Given the description of an element on the screen output the (x, y) to click on. 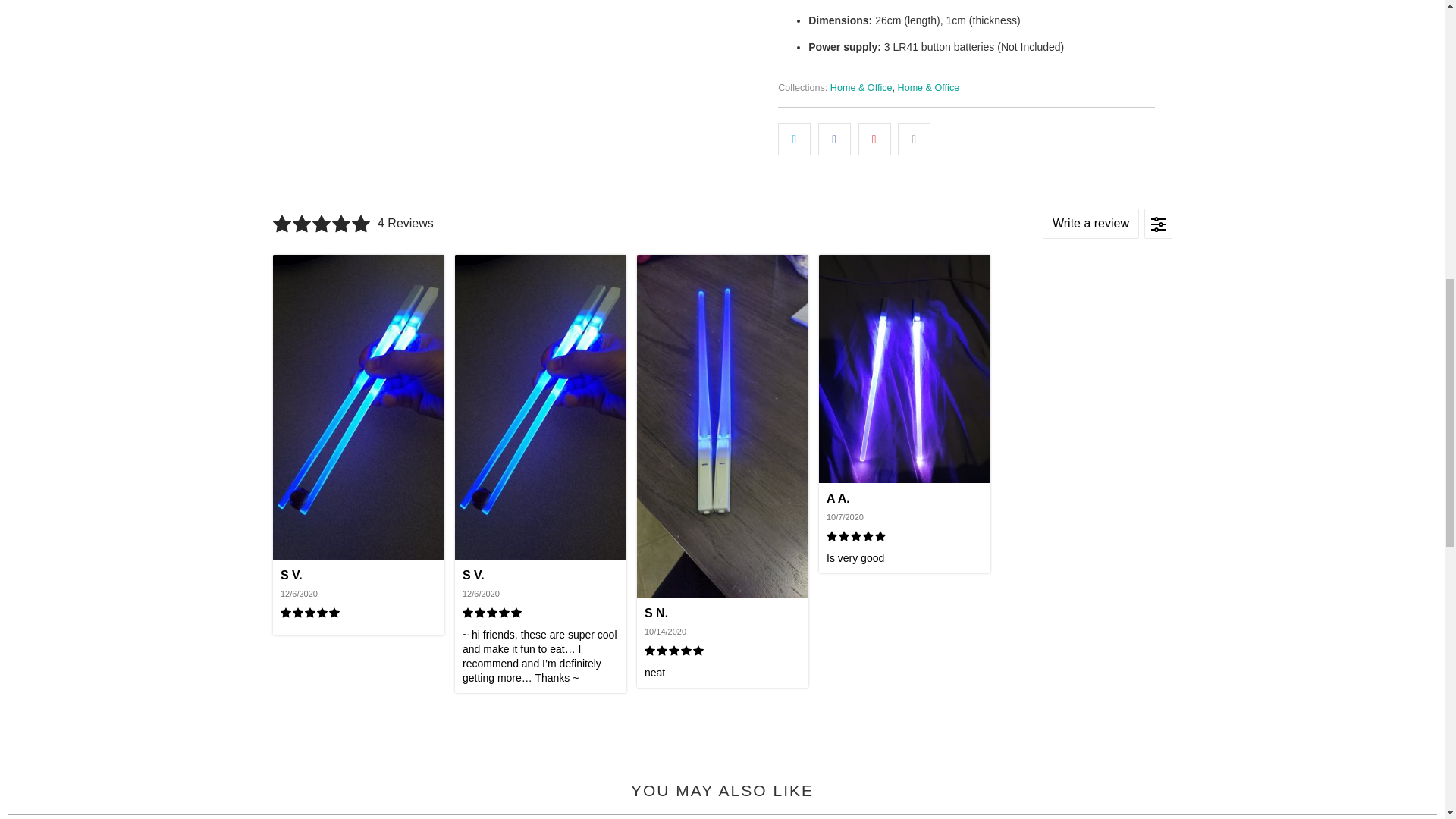
Email this to a friend (914, 138)
Share this on Pinterest (875, 138)
Share this on Facebook (834, 138)
Share this on Twitter (793, 138)
